Given the description of an element on the screen output the (x, y) to click on. 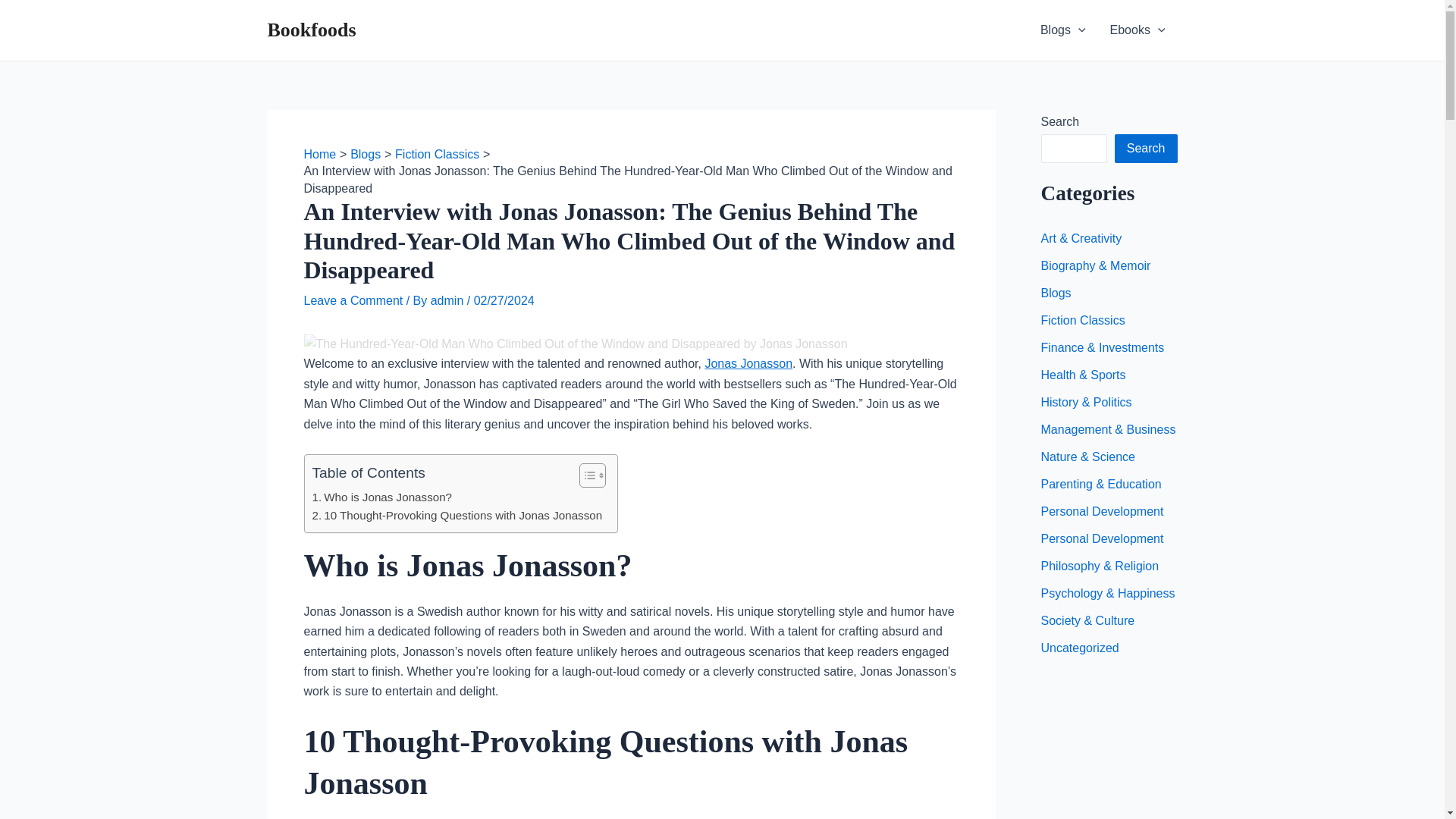
Who is Jonas Jonasson? (382, 497)
Blogs (1062, 30)
View all posts by admin (448, 300)
Bookfoods (310, 29)
10 Thought-Provoking Questions with Jonas Jonasson (457, 515)
